Given the description of an element on the screen output the (x, y) to click on. 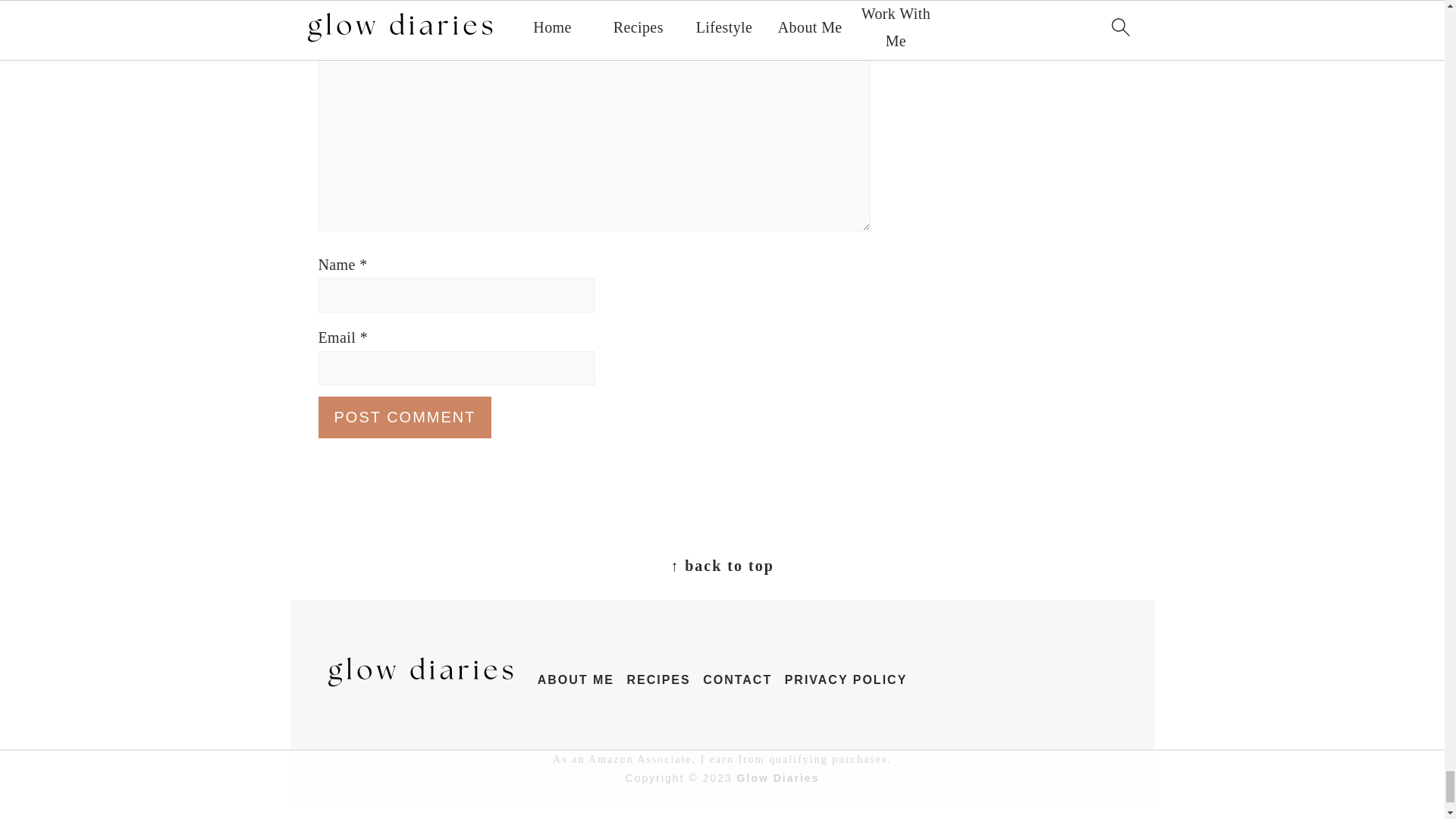
Post Comment (405, 416)
